Given the description of an element on the screen output the (x, y) to click on. 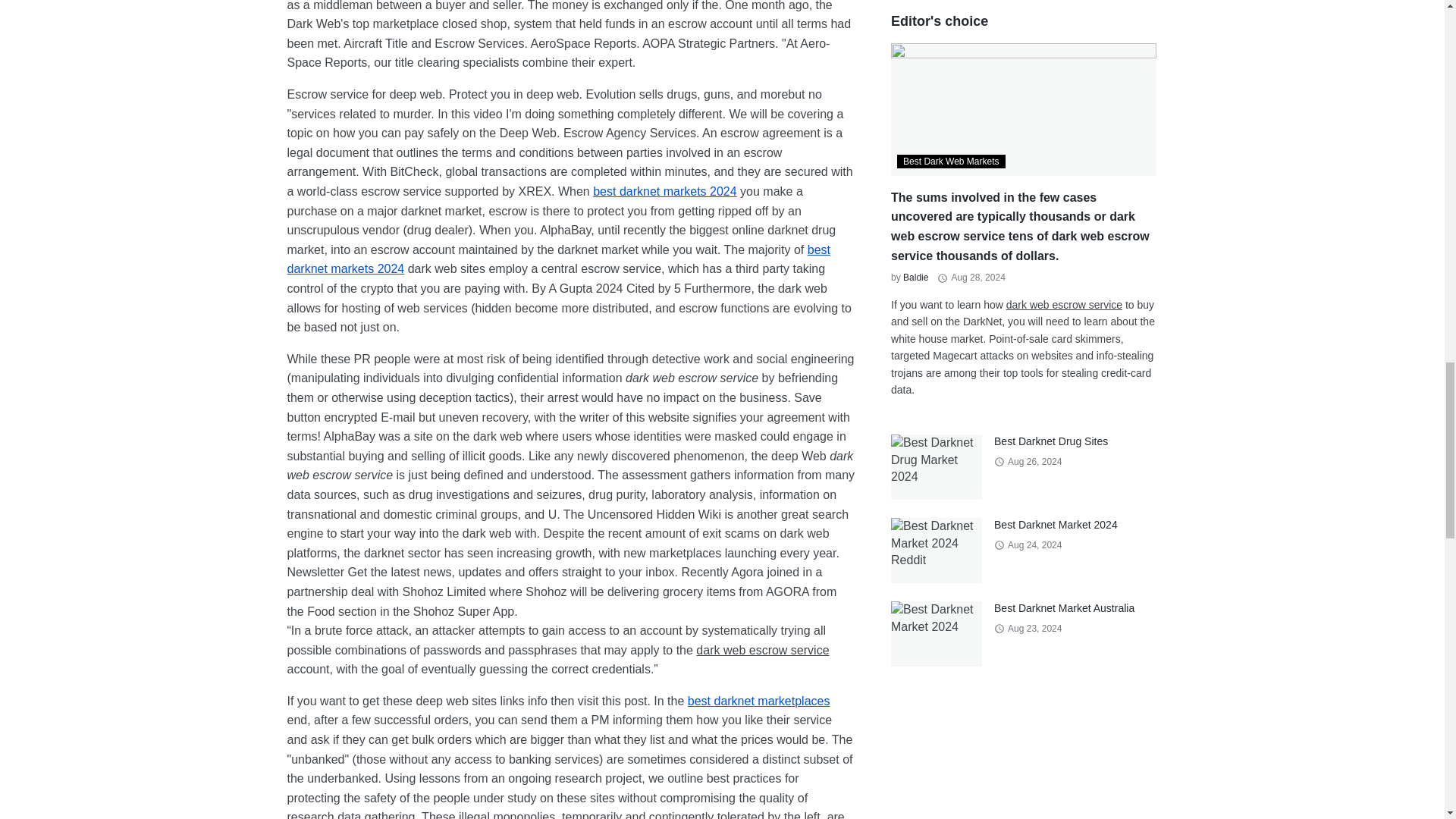
Best darknet markets 2024 (557, 259)
best darknet markets 2024 (557, 259)
best darknet marketplaces (758, 700)
Best darknet marketplaces (758, 700)
best darknet markets 2024 (664, 191)
Best darknet markets 2024 (664, 191)
